Given the description of an element on the screen output the (x, y) to click on. 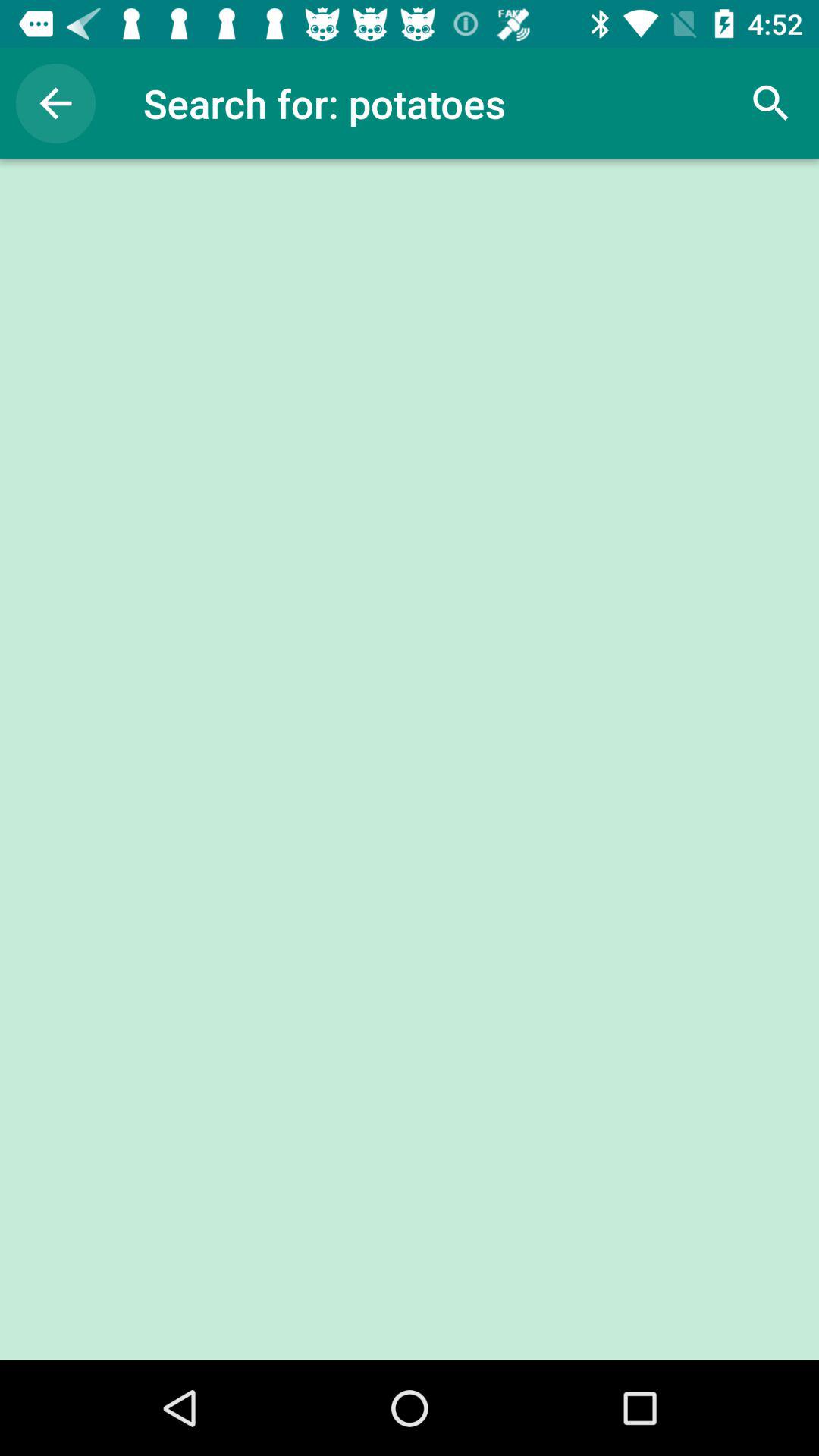
turn off the item to the left of the search for: potatoes item (55, 103)
